Given the description of an element on the screen output the (x, y) to click on. 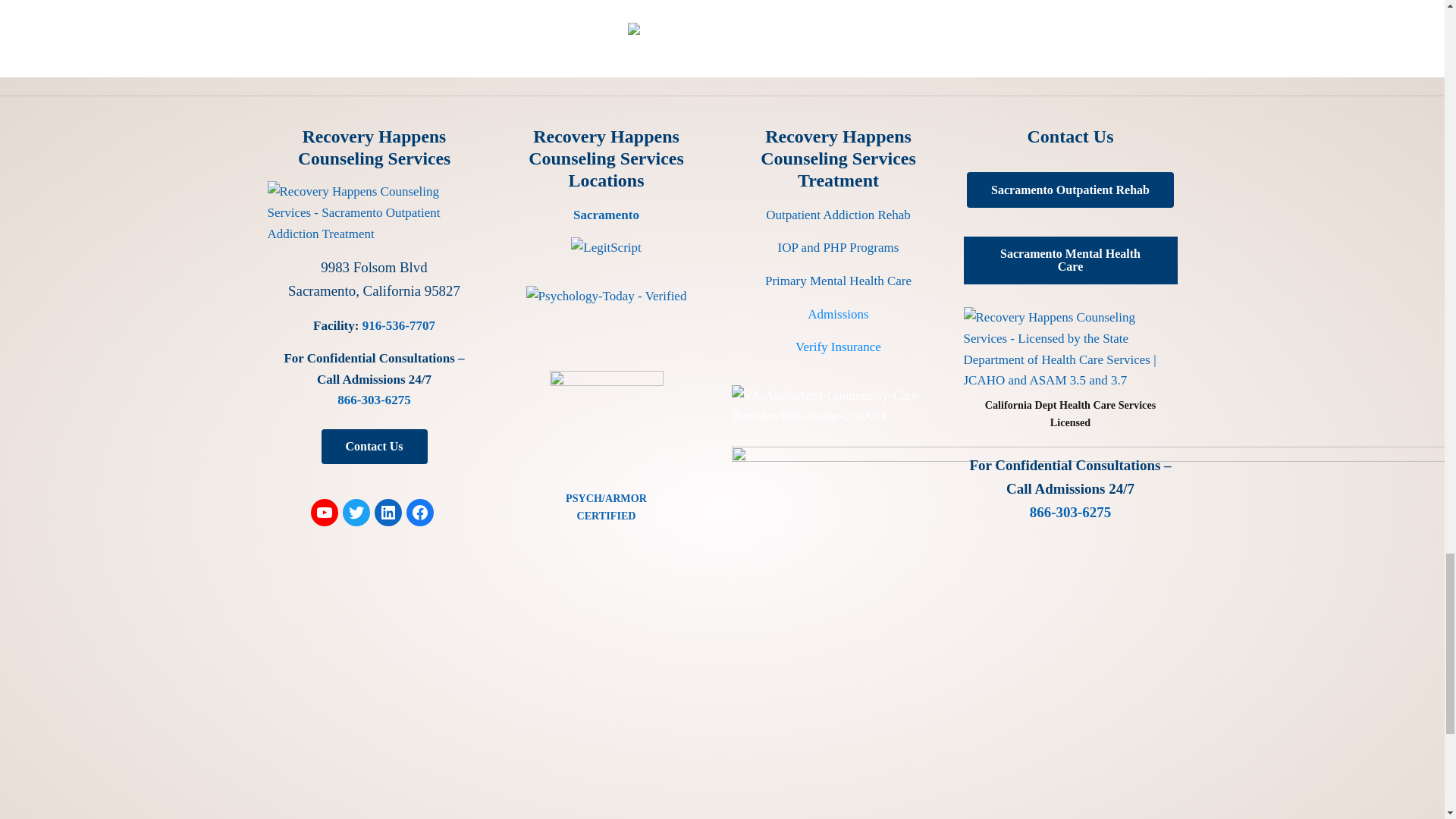
866-303-6275 (373, 400)
916-536-7707 (398, 325)
Contact Us (374, 446)
Psychology Today - Profile (606, 296)
VA Authorized Community Care Provider (837, 405)
